Given the description of an element on the screen output the (x, y) to click on. 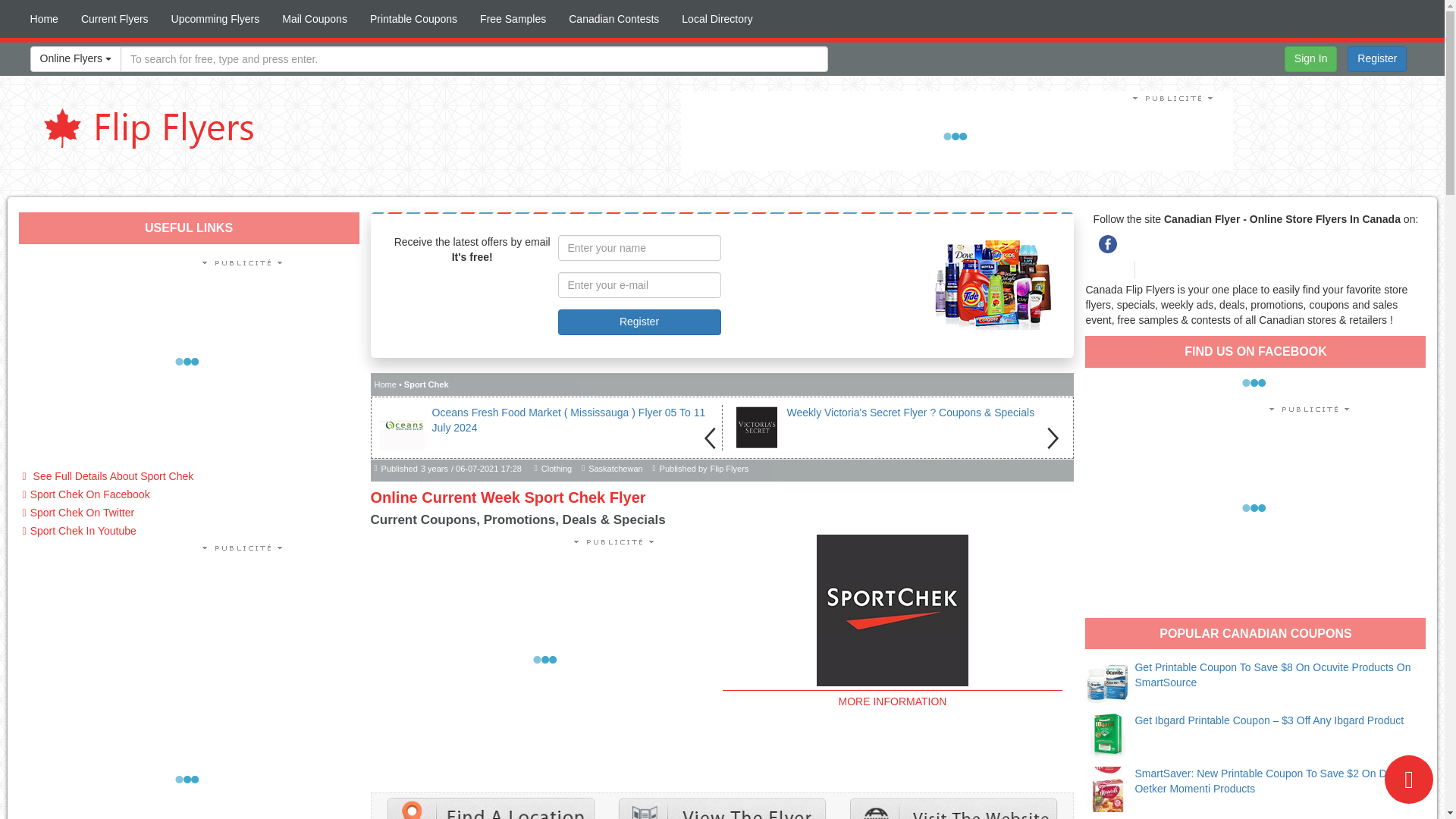
Current Flyers (114, 18)
Canadian Flyer - Online Store Flyers In Canada (143, 126)
Sign In (1311, 58)
Upcomming Flyers (215, 18)
Mail Coupons (314, 18)
Sport Chek In Youtube (188, 531)
Home (43, 18)
Sport Chek On Facebook (188, 495)
Full Details About Sport Chek (188, 476)
Register (1377, 58)
Follow Sport Chek On Youtube (188, 531)
Canadian Contests (613, 18)
Advertisement (188, 361)
Online Flyers (75, 58)
Follow Sport Chek On Twitter (188, 513)
